Given the description of an element on the screen output the (x, y) to click on. 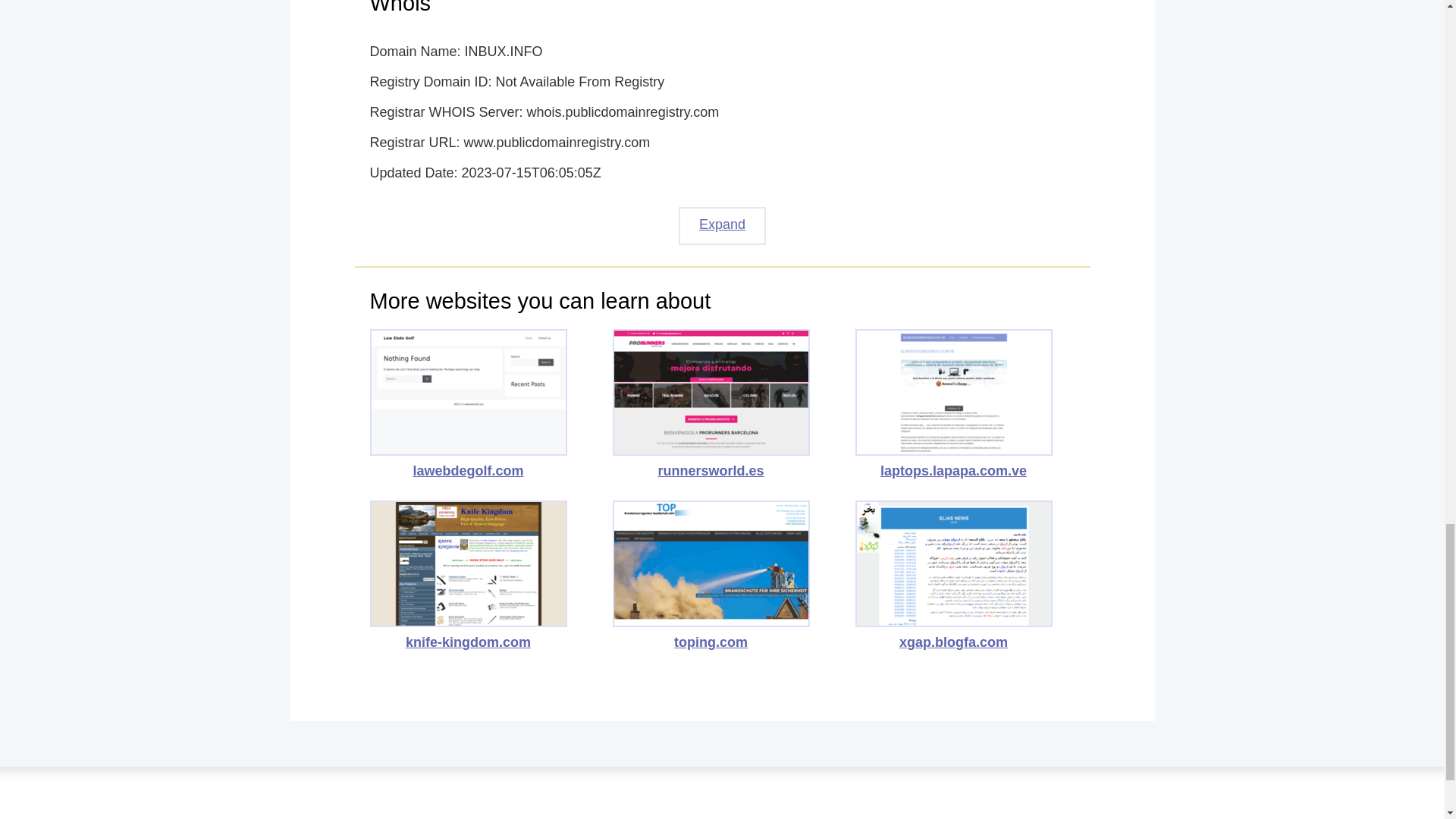
knife-kingdom.com (468, 575)
xgap.blogfa.com (954, 575)
laptops.lapapa.com.ve (954, 404)
Expand (721, 225)
runnersworld.es (710, 404)
lawebdegolf.com (468, 404)
toping.com (710, 575)
2024 (721, 809)
